Given the description of an element on the screen output the (x, y) to click on. 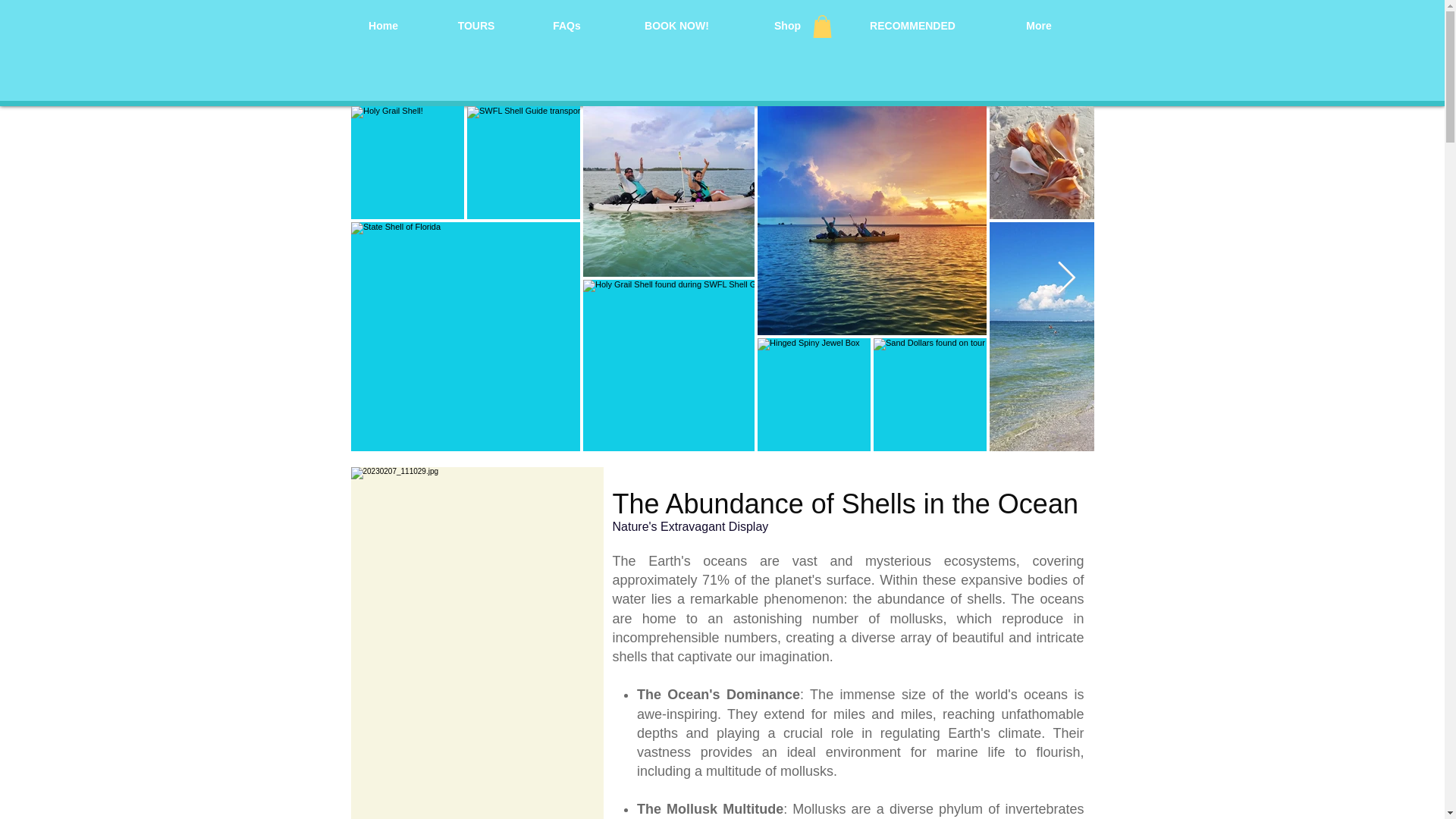
Shop (786, 26)
TOURS (476, 26)
BOOK NOW! (676, 26)
RECOMMENDED (911, 26)
Home (383, 26)
FAQs (566, 26)
